Given the description of an element on the screen output the (x, y) to click on. 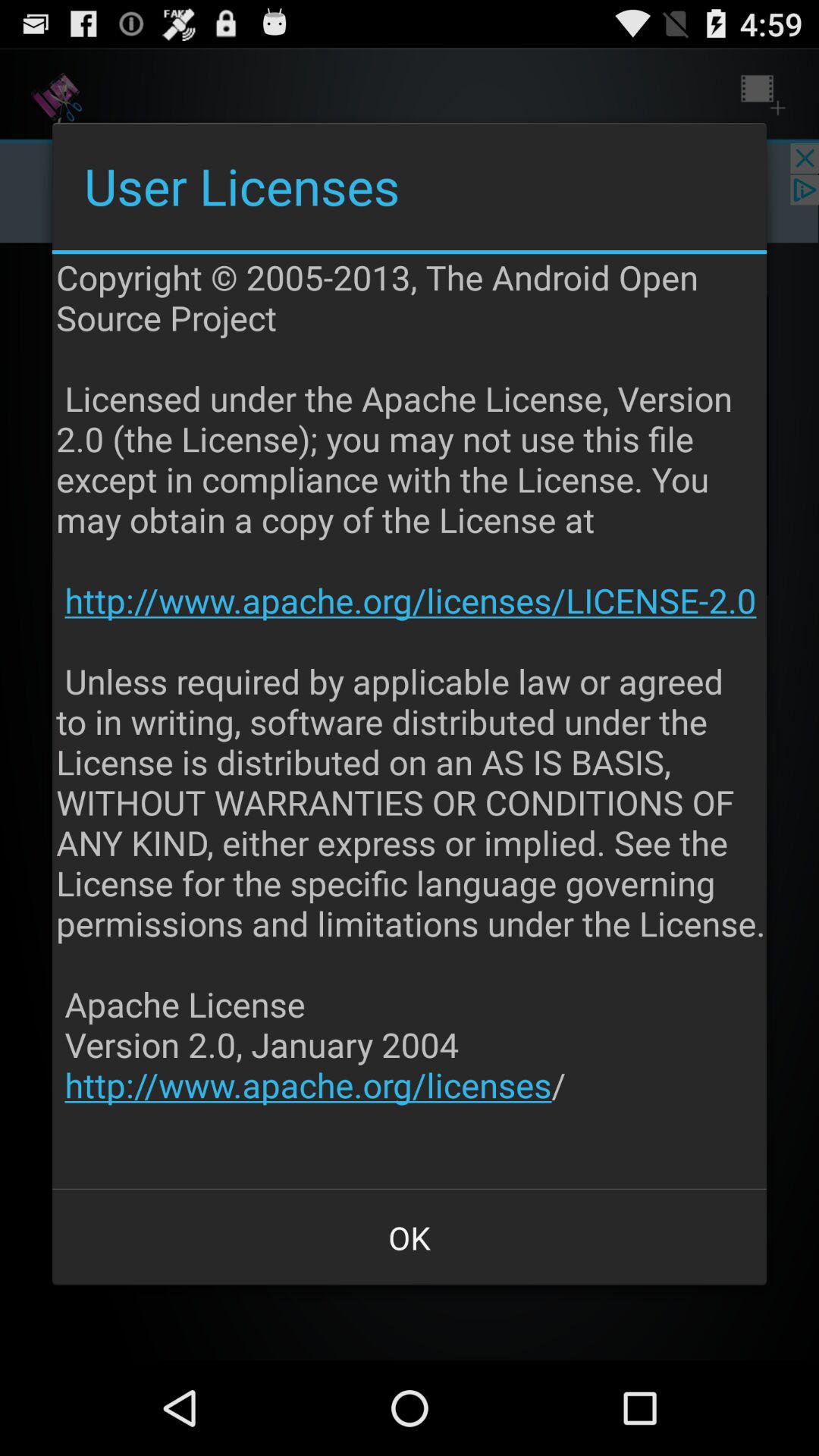
turn on icon above ok icon (411, 721)
